Given the description of an element on the screen output the (x, y) to click on. 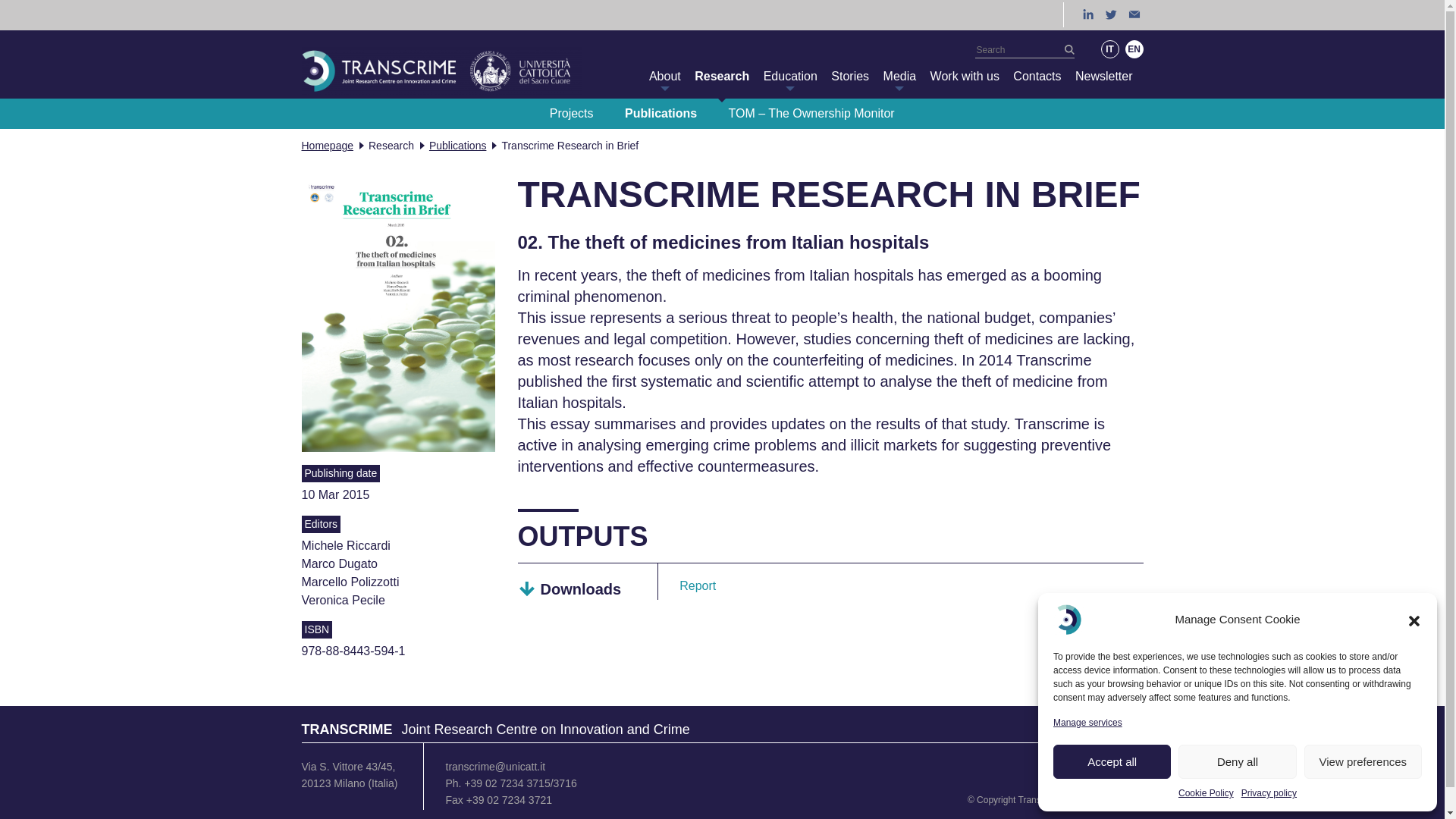
EN (1133, 49)
Stories (850, 75)
Projects (572, 113)
Publications (660, 113)
Cookie Policy (1205, 793)
IT (1109, 49)
About (665, 76)
Accept all (1111, 761)
Deny all (1236, 761)
Work with us (964, 75)
